Given the description of an element on the screen output the (x, y) to click on. 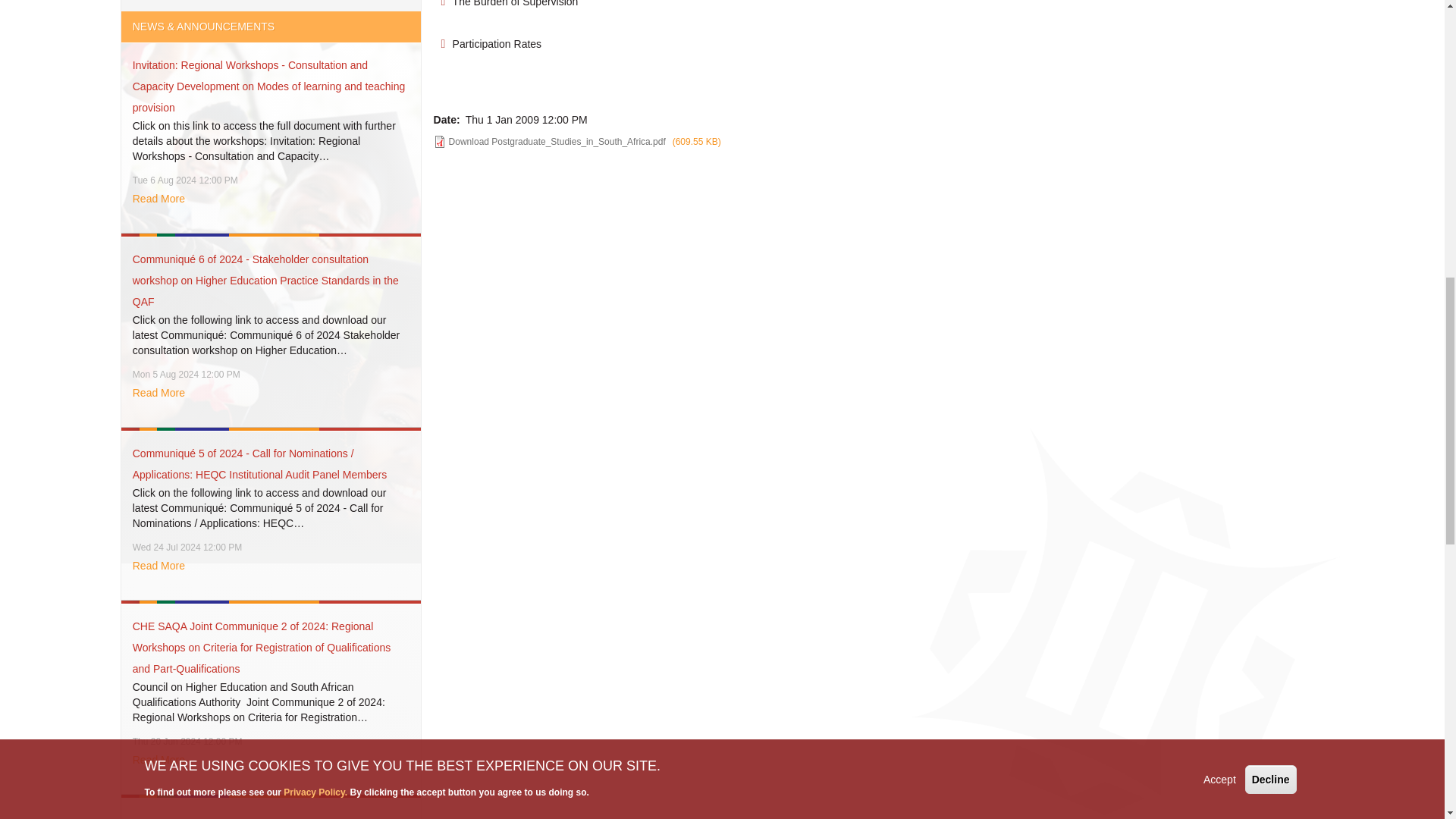
Share to Email (592, 186)
Share to WhatsApp (505, 186)
Share to Linkedin (563, 186)
Share to Twitter (476, 186)
Share to Facebook (448, 186)
Share to Pinterest (534, 186)
